Given the description of an element on the screen output the (x, y) to click on. 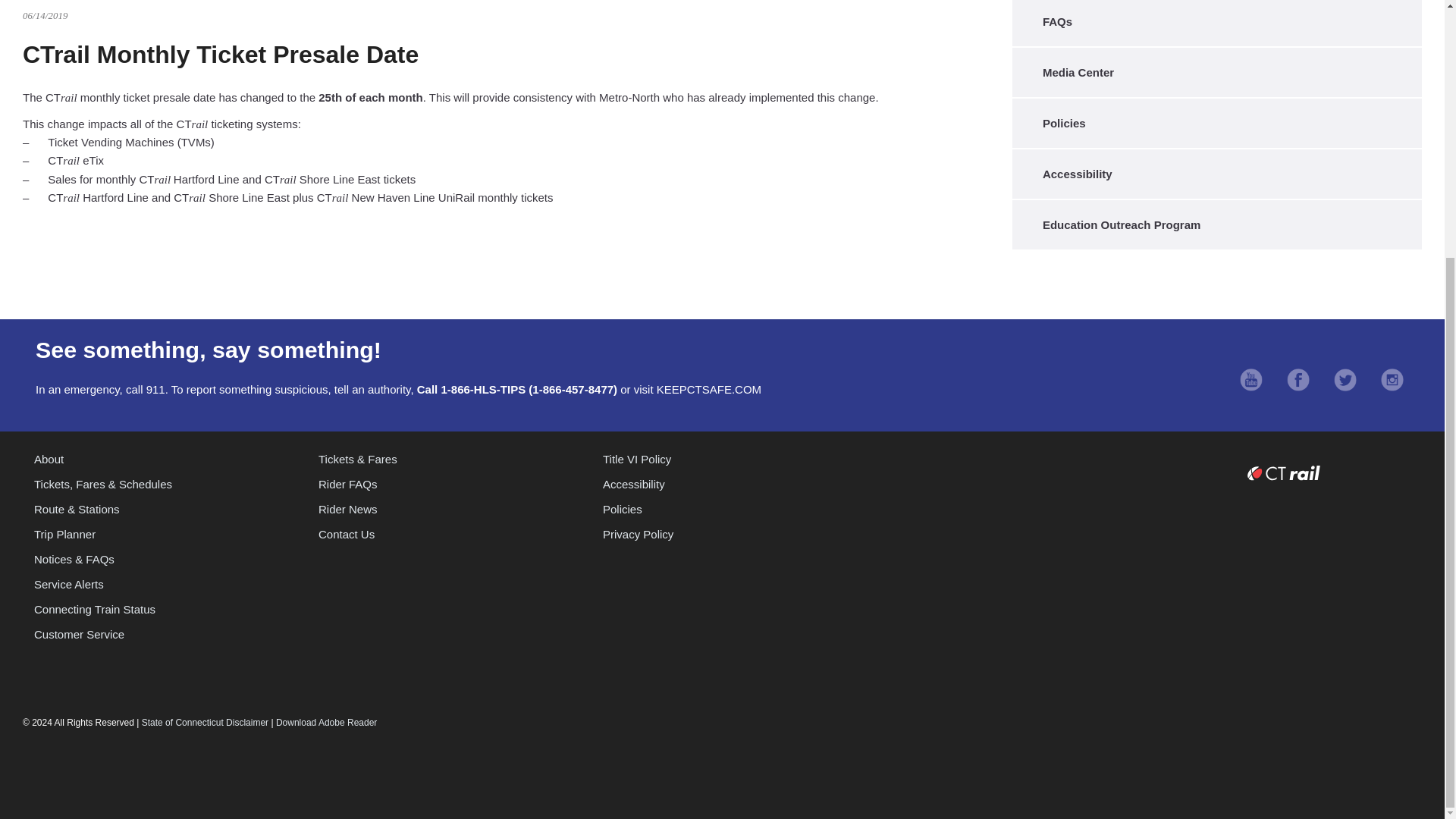
Media Center (1213, 72)
Accessibility (1213, 173)
Opens in new window (1298, 380)
Education Outreach Program (1213, 224)
Opens in new window (1251, 380)
Opens in new window (1345, 380)
FAQs (1213, 21)
Policies (1213, 122)
